Given the description of an element on the screen output the (x, y) to click on. 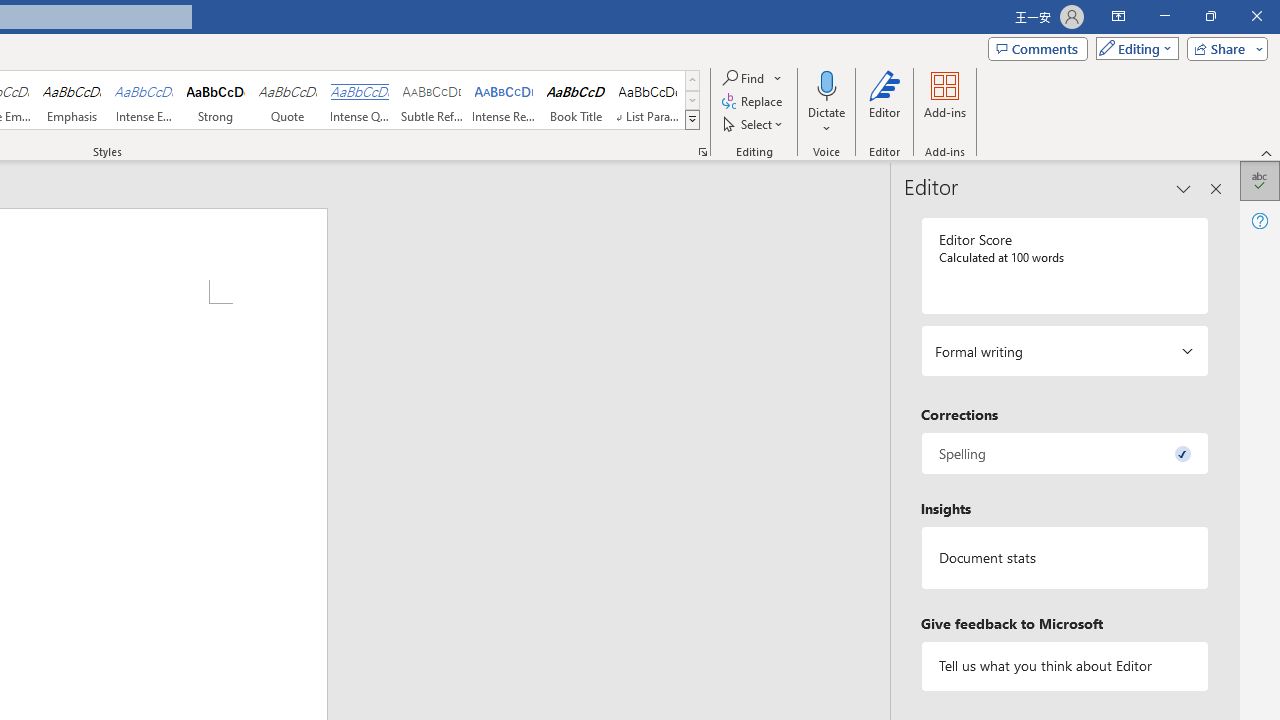
Intense Emphasis (143, 100)
Tell us what you think about Editor (1064, 666)
Styles (692, 120)
